Given the description of an element on the screen output the (x, y) to click on. 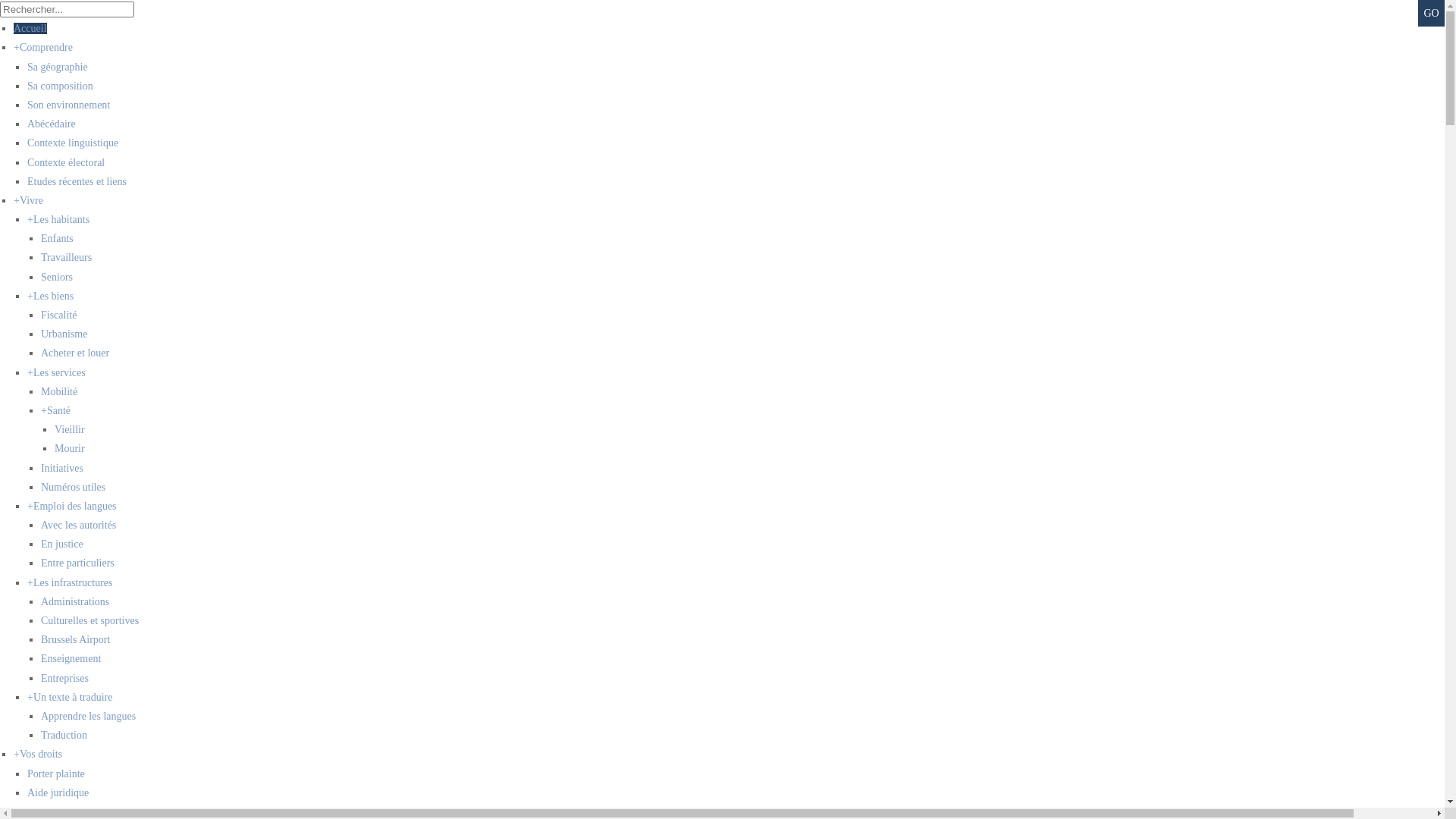
Entre particuliers Element type: text (77, 562)
Apprendre les langues Element type: text (87, 715)
Vieillir Element type: text (69, 429)
+Vivre Element type: text (28, 200)
Acheter et louer Element type: text (74, 352)
Enseignement Element type: text (70, 658)
Porter plainte Element type: text (55, 772)
Accueil Element type: text (30, 28)
Aide juridique Element type: text (57, 792)
Brussels Airport Element type: text (74, 639)
Entreprises Element type: text (64, 678)
Initiatives Element type: text (61, 467)
+Les biens Element type: text (50, 295)
Culturelles et sportives Element type: text (89, 620)
+Les infrastructures Element type: text (69, 582)
Traduction Element type: text (63, 734)
Seniors Element type: text (56, 276)
Son environnement Element type: text (68, 104)
Sa composition Element type: text (60, 85)
GO Element type: text (1431, 13)
En justice Element type: text (61, 543)
+Vos droits Element type: text (37, 753)
+Les services Element type: text (56, 372)
Enfants Element type: text (56, 238)
Administrations Element type: text (74, 601)
Travailleurs Element type: text (65, 257)
+Emploi des langues Element type: text (71, 505)
+Comprendre Element type: text (42, 47)
Contexte linguistique Element type: text (72, 142)
Urbanisme Element type: text (63, 333)
+Les habitants Element type: text (58, 219)
Mourir Element type: text (69, 448)
